Given the description of an element on the screen output the (x, y) to click on. 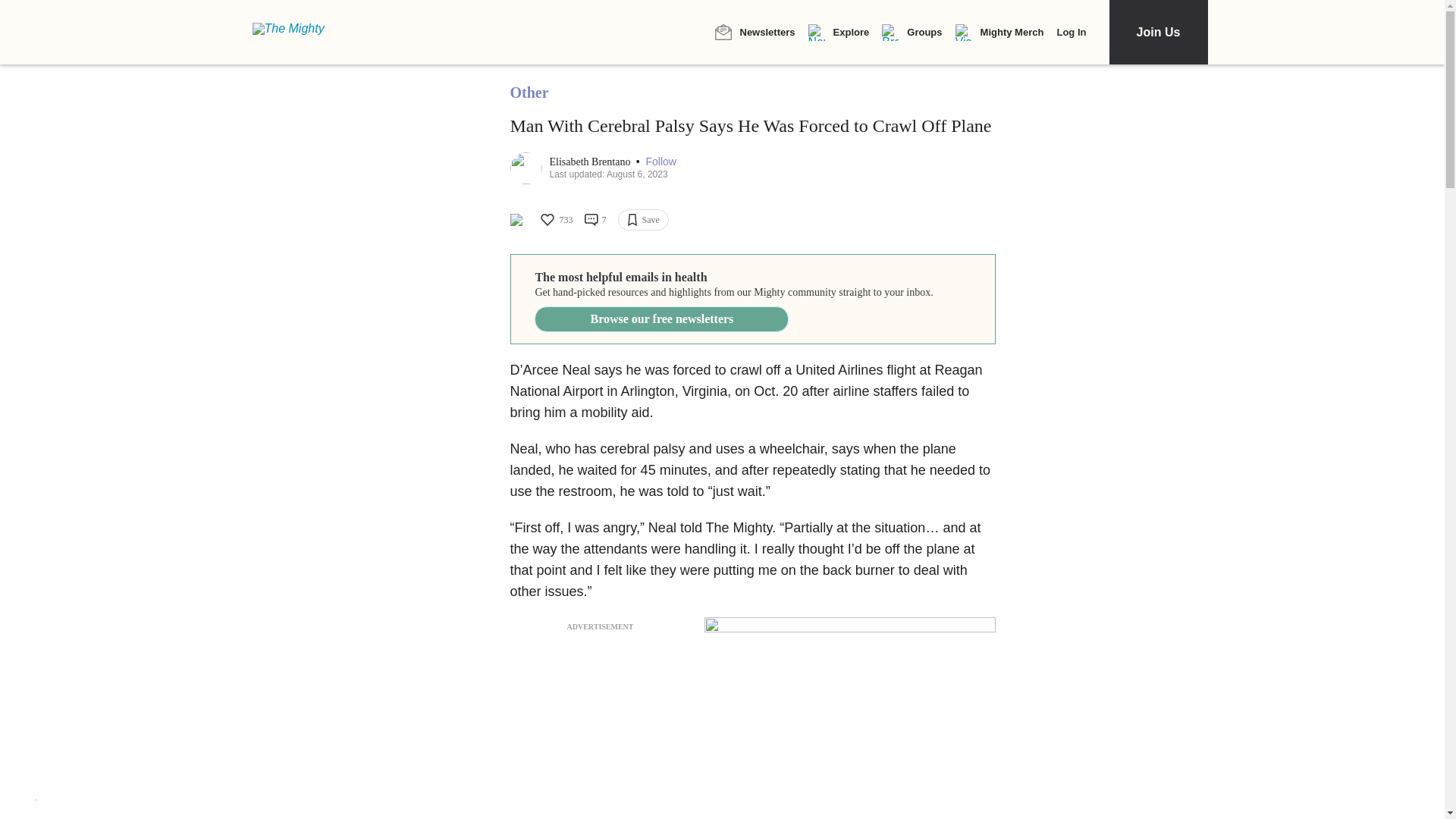
The Mighty (296, 32)
Explore (838, 32)
Browse our free newsletters (661, 319)
Other (528, 92)
Follow (661, 161)
733 (555, 219)
Groups (912, 32)
Newsletters (754, 31)
Join Us (1157, 32)
7 (594, 219)
Save (642, 219)
Elisabeth Brentano (589, 161)
Mighty Merch (999, 32)
